Given the description of an element on the screen output the (x, y) to click on. 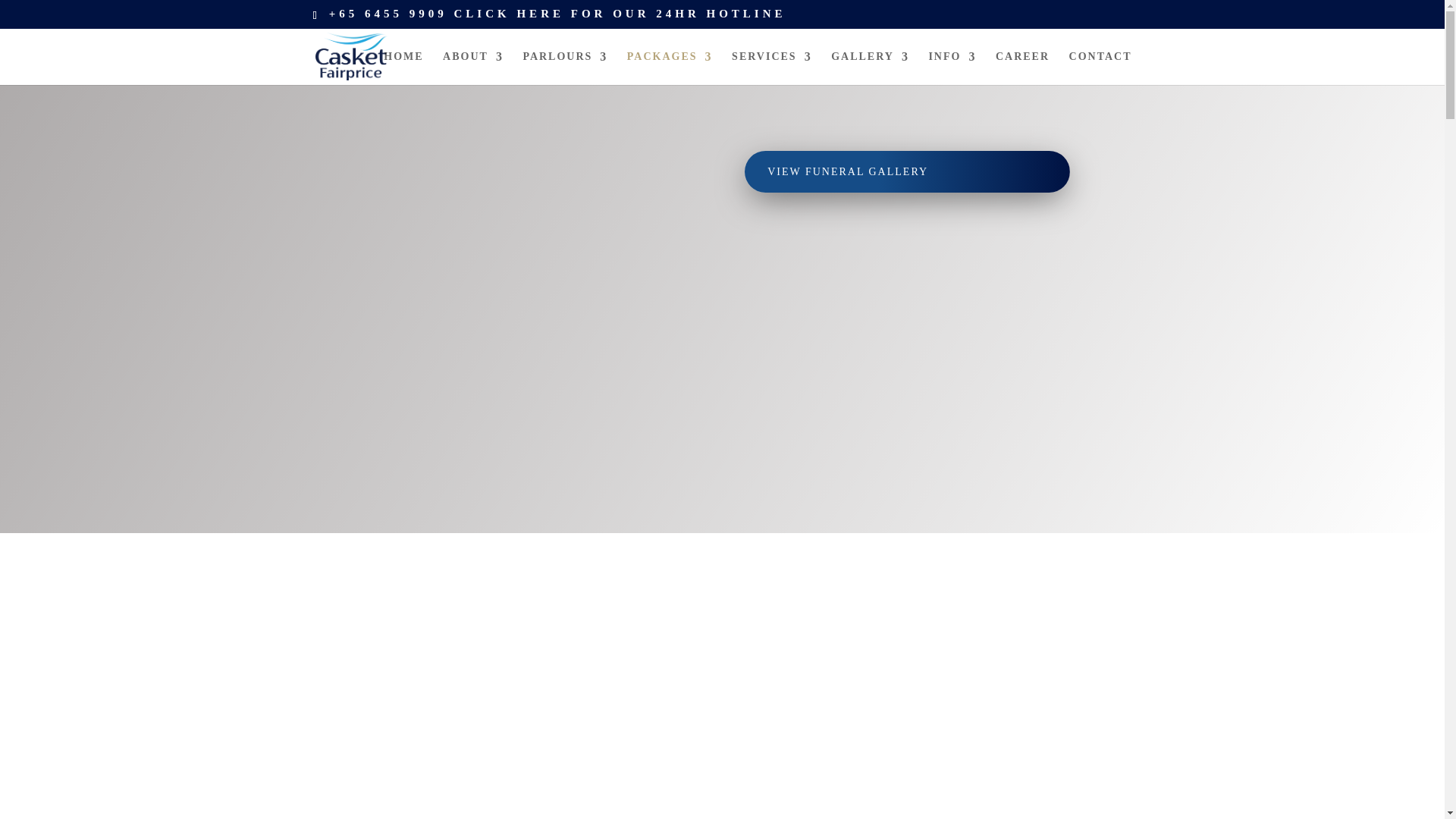
GALLERY (869, 68)
PACKAGES (670, 68)
SERVICES (772, 68)
INFO (951, 68)
CAREER (1022, 68)
PARLOURS (564, 68)
HOME (403, 68)
ABOUT (472, 68)
